Given the description of an element on the screen output the (x, y) to click on. 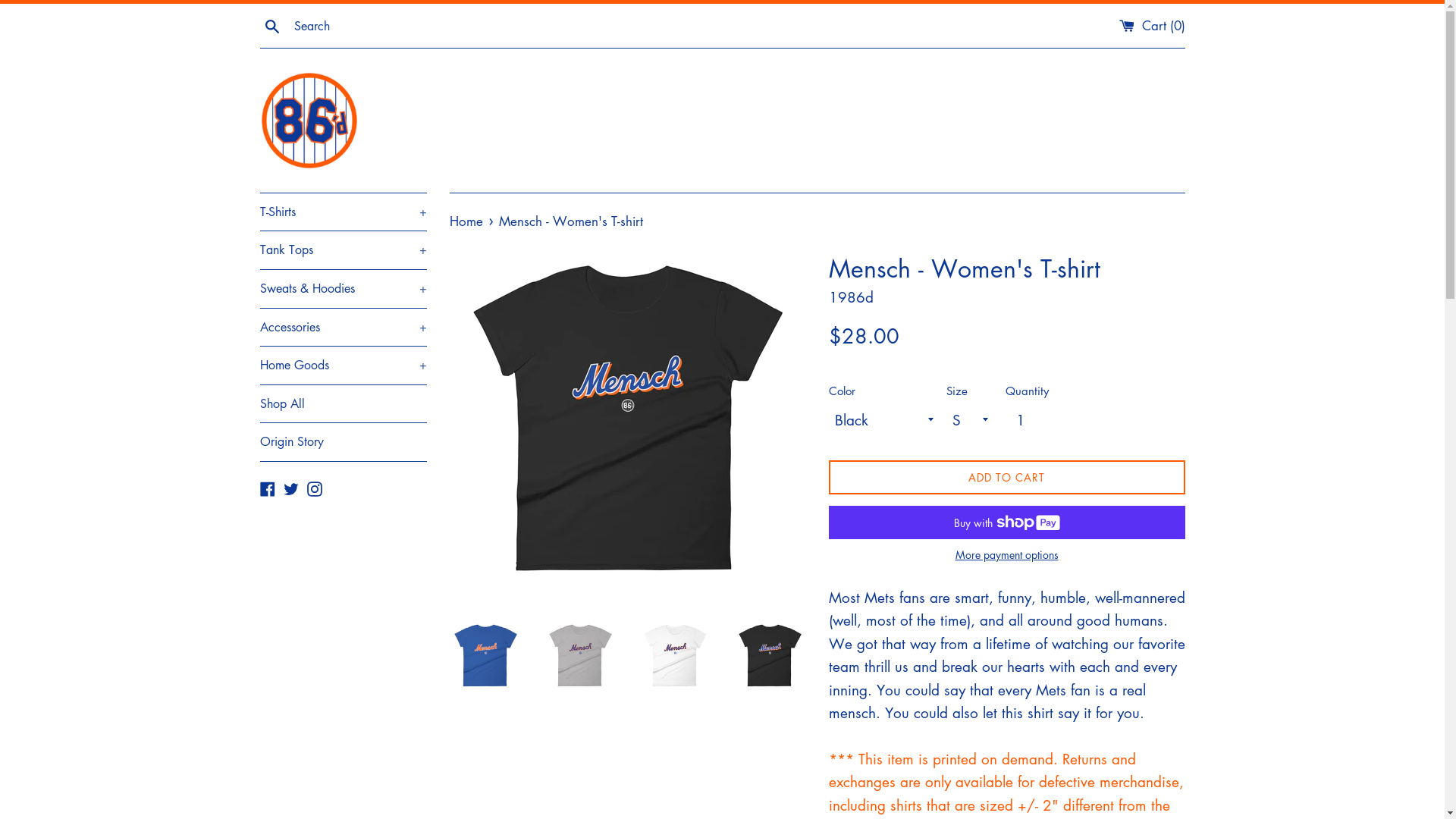
Search Element type: text (271, 24)
Shop All Element type: text (342, 404)
Facebook Element type: text (266, 486)
ADD TO CART Element type: text (1006, 477)
Cart (0) Element type: text (1152, 25)
Home Element type: text (467, 220)
Instagram Element type: text (313, 486)
T-Shirts
+ Element type: text (342, 212)
Sweats & Hoodies
+ Element type: text (342, 288)
Accessories
+ Element type: text (342, 327)
Origin Story Element type: text (342, 442)
More payment options Element type: text (1006, 554)
Twitter Element type: text (290, 486)
Home Goods
+ Element type: text (342, 365)
Tank Tops
+ Element type: text (342, 250)
